Given the description of an element on the screen output the (x, y) to click on. 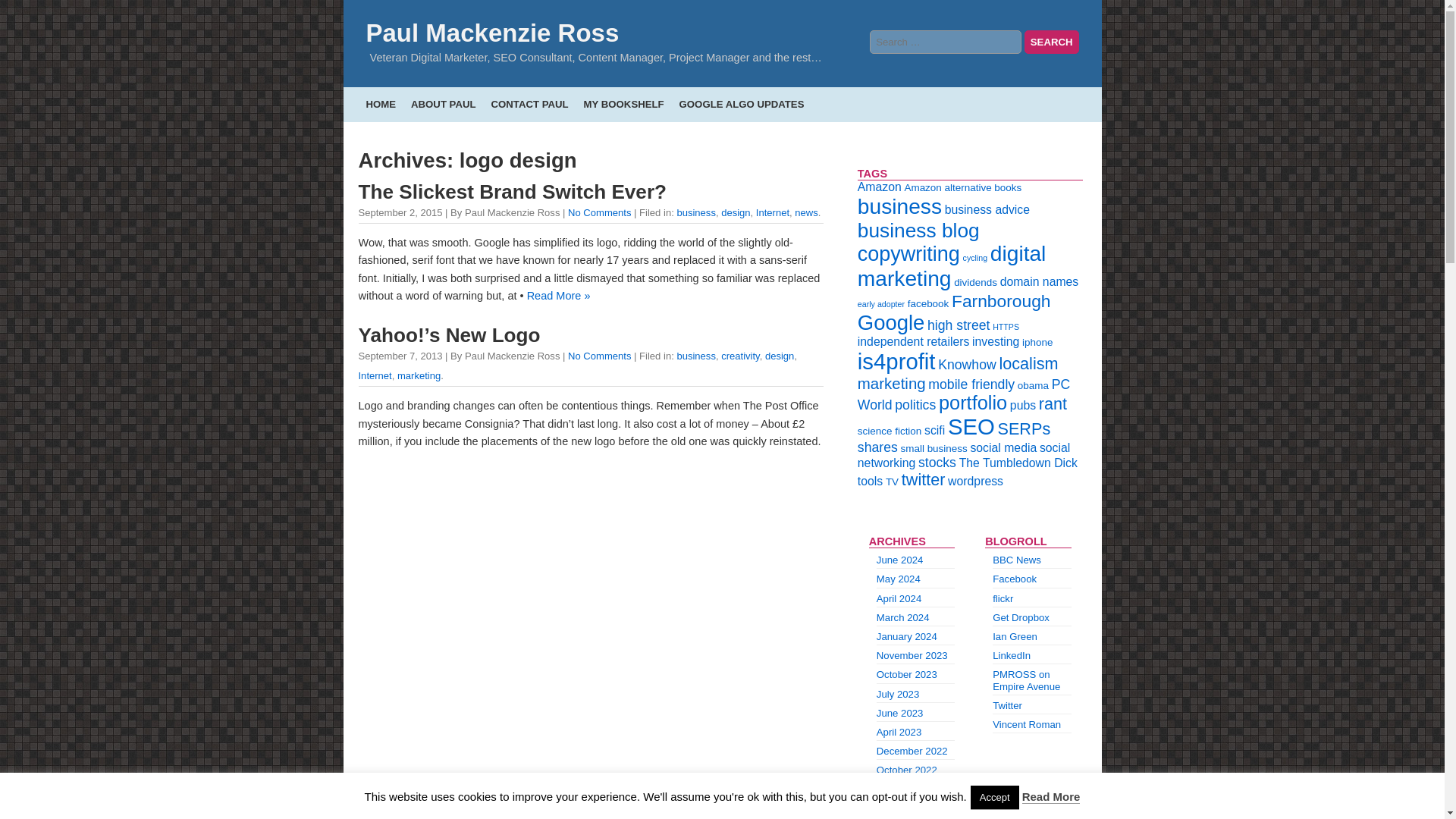
GOOGLE ALGO UPDATES (742, 103)
Search (1051, 42)
business advice (986, 209)
CONTACT PAUL (530, 103)
MY BOOKSHELF (623, 103)
design (779, 355)
design (734, 212)
facebook (928, 303)
cycling (975, 257)
Internet (374, 375)
digital marketing (951, 265)
creativity (740, 355)
Amazon (879, 186)
business (696, 355)
